Given the description of an element on the screen output the (x, y) to click on. 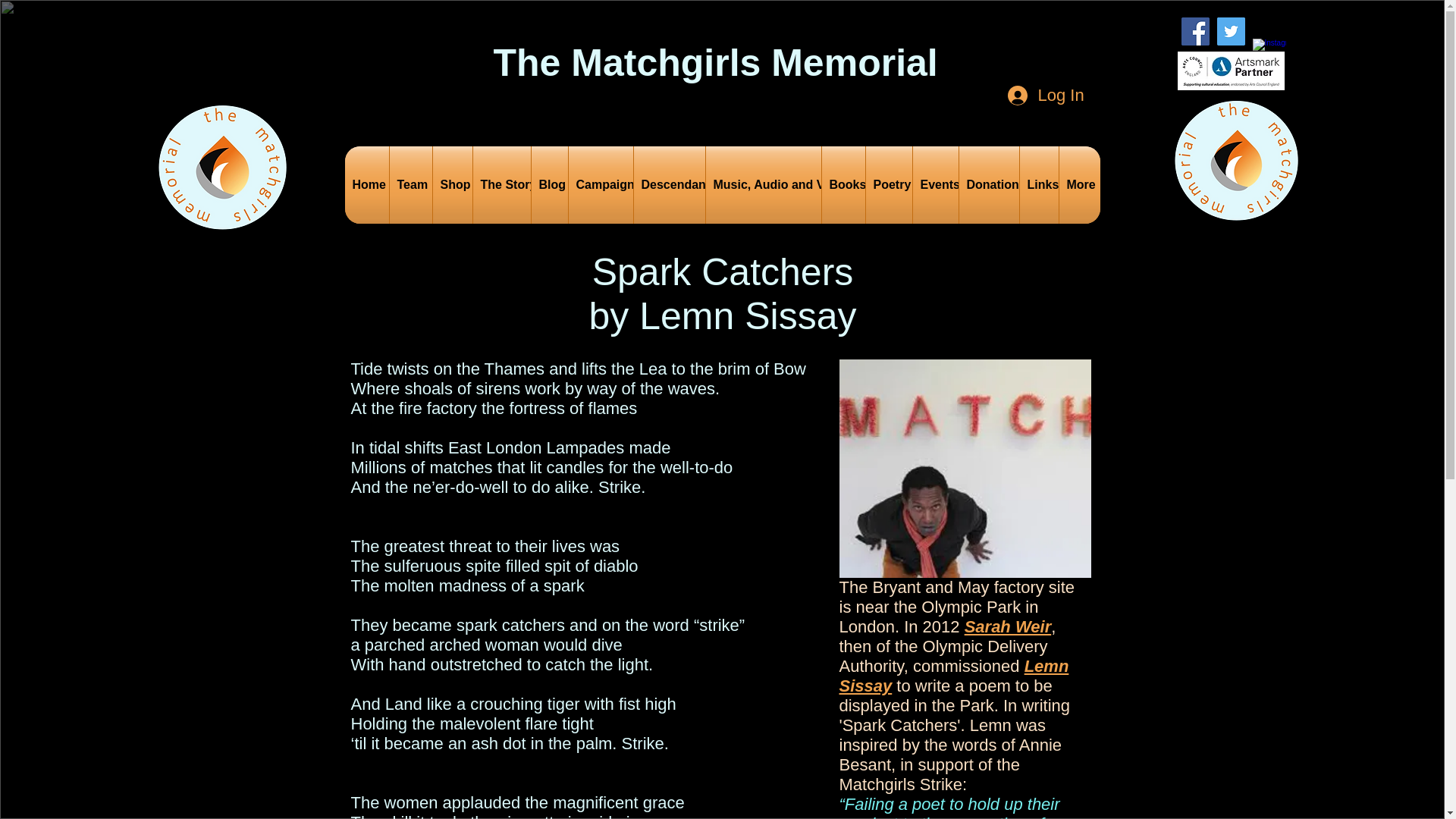
Log In (1041, 95)
The Matchgirls Memorial (715, 62)
Home (365, 184)
Blog (549, 184)
